Given the description of an element on the screen output the (x, y) to click on. 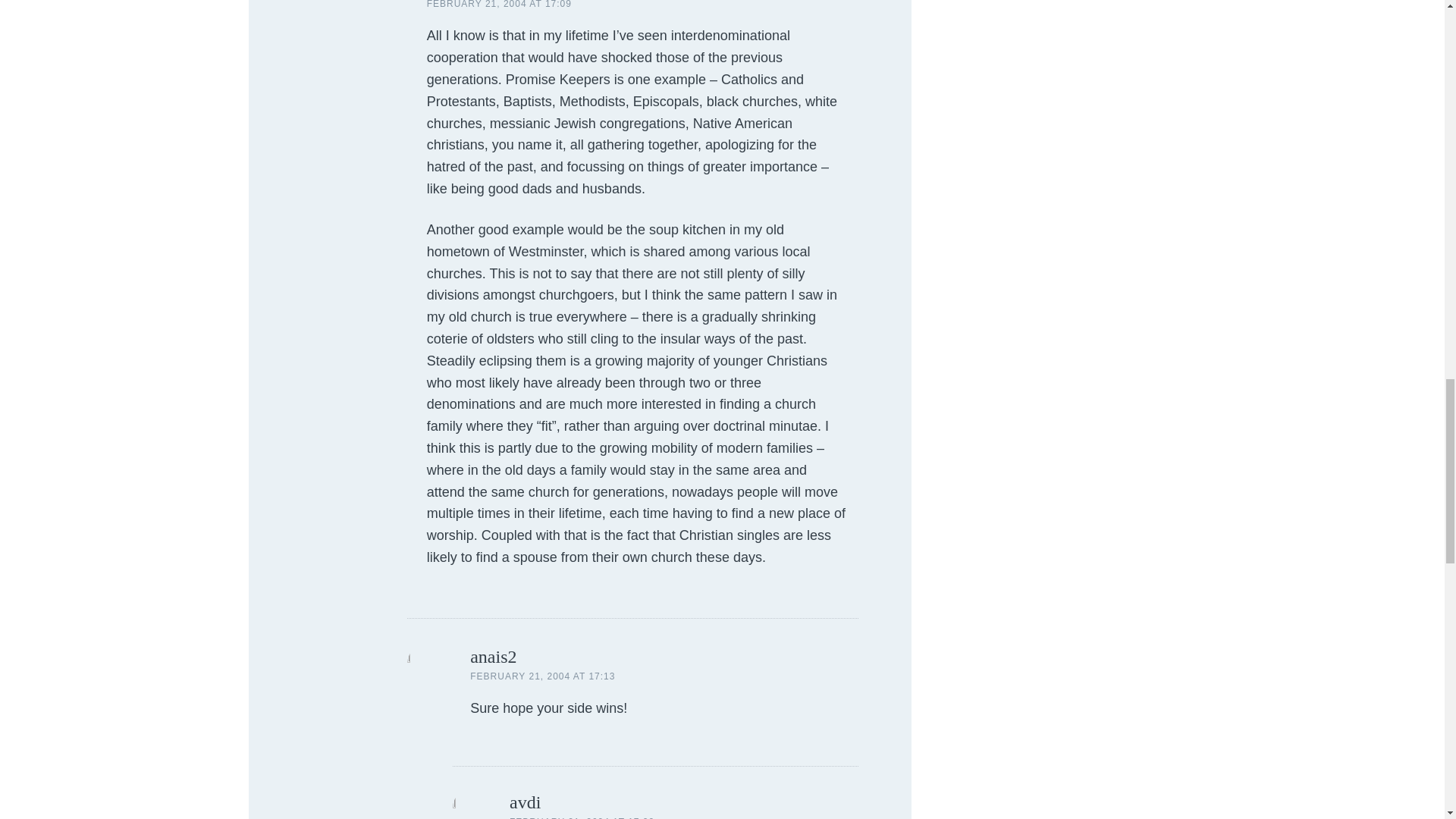
FEBRUARY 21, 2004 AT 17:13 (542, 675)
anais2 (493, 656)
FEBRUARY 21, 2004 AT 17:09 (499, 4)
avdi (524, 802)
FEBRUARY 21, 2004 AT 17:22 (581, 817)
